Given the description of an element on the screen output the (x, y) to click on. 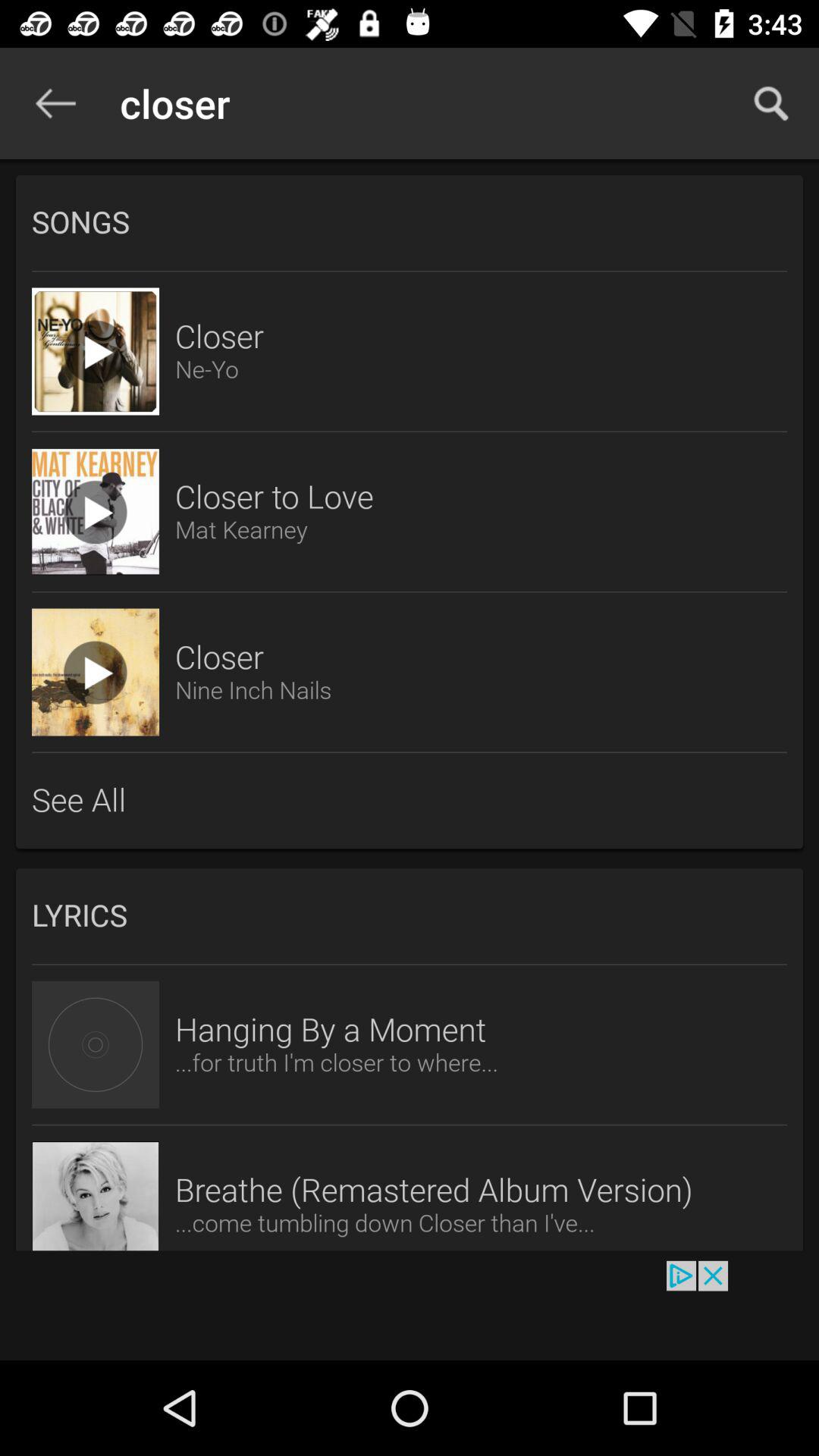
play song (95, 671)
